Given the description of an element on the screen output the (x, y) to click on. 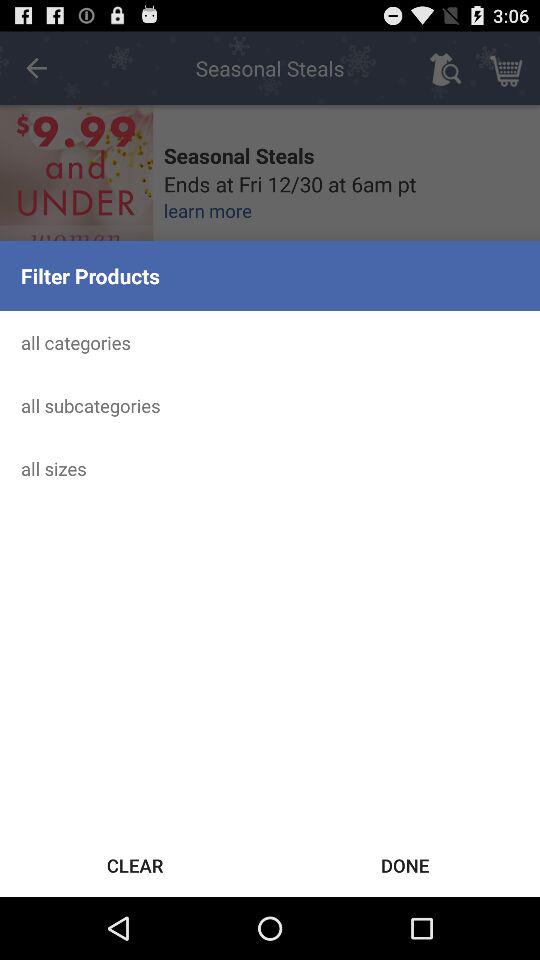
press the icon below the all sizes (405, 864)
